Given the description of an element on the screen output the (x, y) to click on. 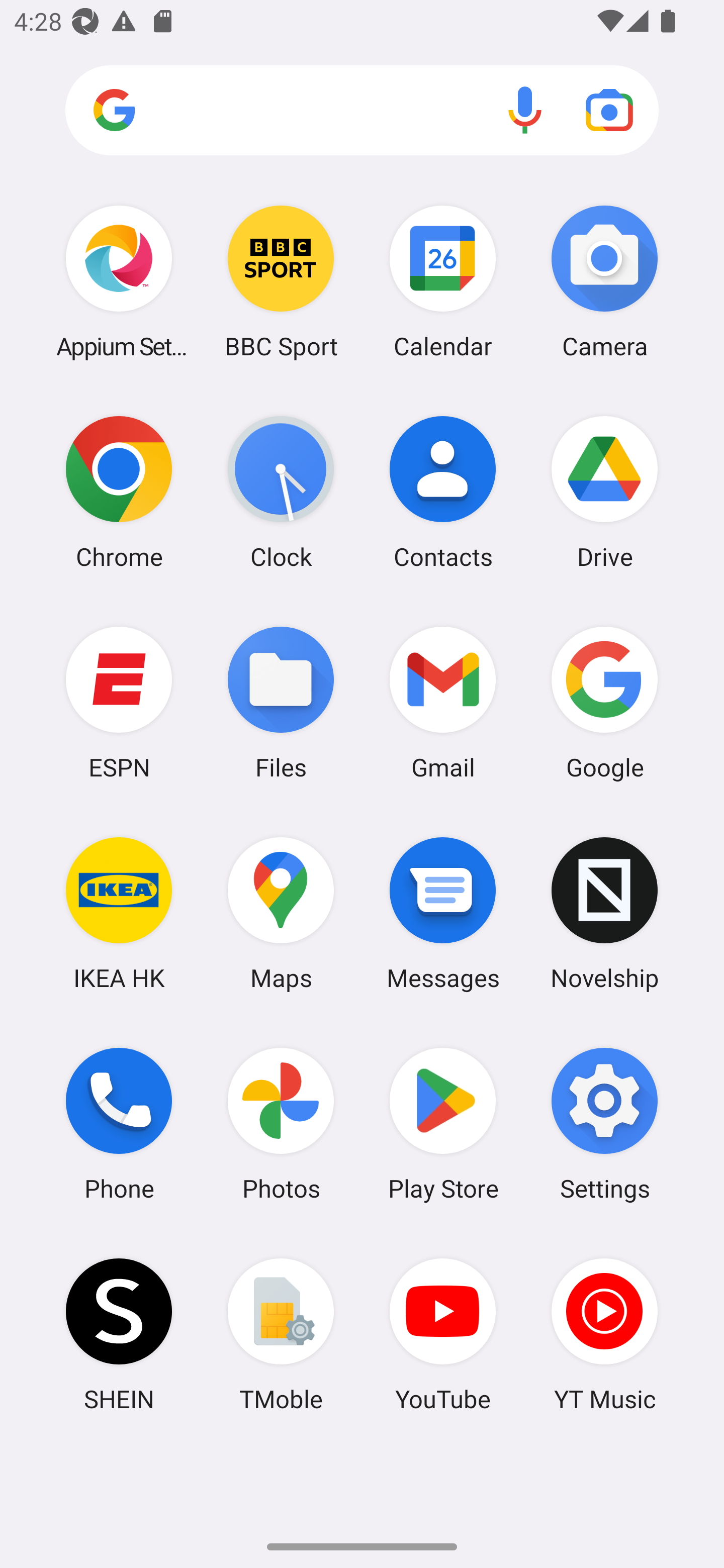
Search apps, web and more (361, 110)
Voice search (524, 109)
Google Lens (608, 109)
Appium Settings (118, 281)
BBC Sport (280, 281)
Calendar (443, 281)
Camera (604, 281)
Chrome (118, 492)
Clock (280, 492)
Contacts (443, 492)
Drive (604, 492)
ESPN (118, 702)
Files (280, 702)
Gmail (443, 702)
Google (604, 702)
IKEA HK (118, 913)
Maps (280, 913)
Messages (443, 913)
Novelship (604, 913)
Phone (118, 1124)
Photos (280, 1124)
Play Store (443, 1124)
Settings (604, 1124)
SHEIN (118, 1334)
TMoble (280, 1334)
YouTube (443, 1334)
YT Music (604, 1334)
